Given the description of an element on the screen output the (x, y) to click on. 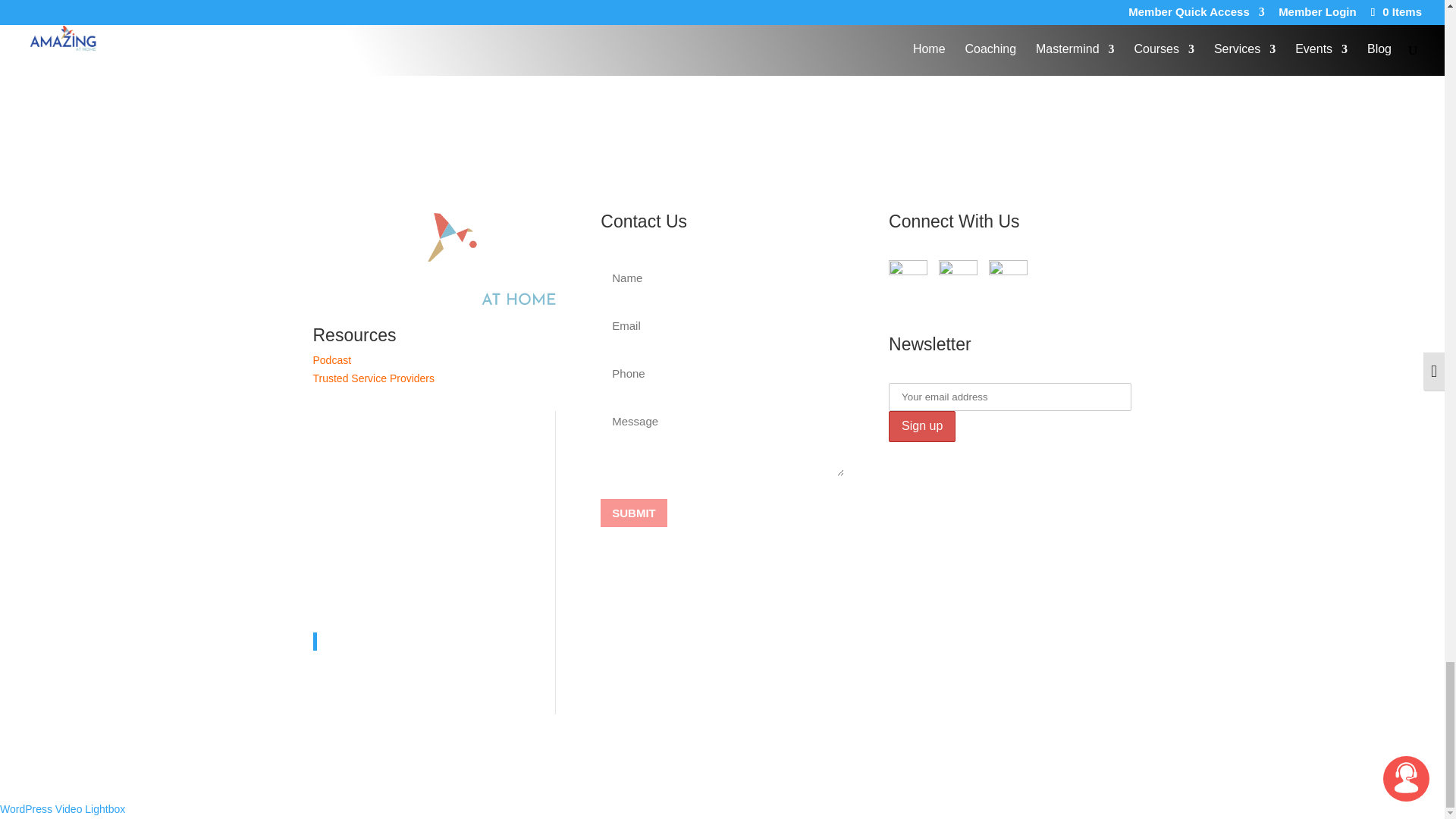
Sign up (921, 426)
Comment Form (599, 21)
Submit (632, 512)
